Given the description of an element on the screen output the (x, y) to click on. 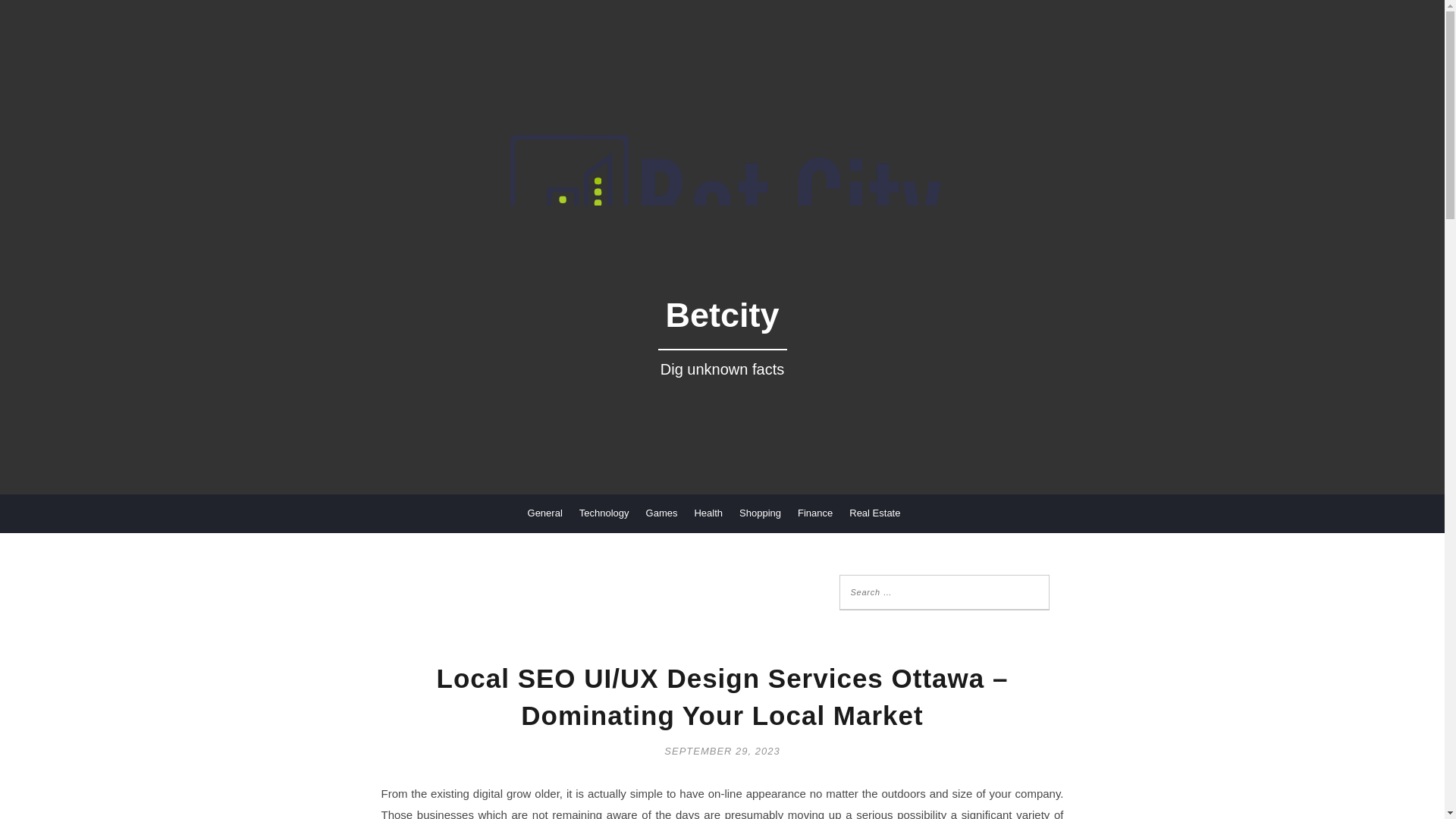
Finance (814, 513)
General (544, 513)
Technology (603, 513)
Betcity (721, 347)
Shopping (759, 513)
Search (30, 11)
SEPTEMBER 29, 2023 (720, 749)
Real Estate (873, 513)
